Given the description of an element on the screen output the (x, y) to click on. 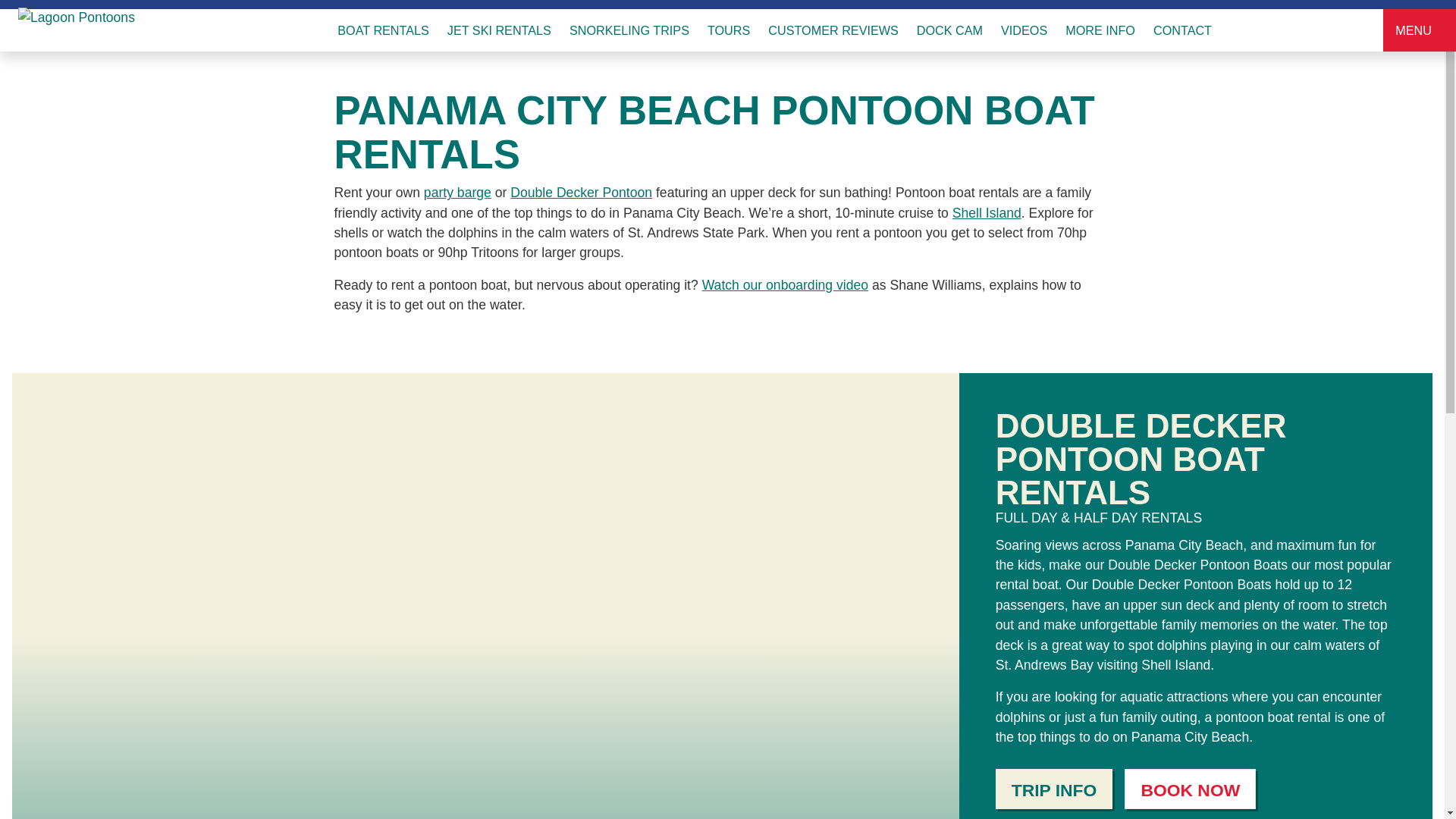
TRIP INFO (1054, 789)
Double Decker Pontoon (581, 192)
Customer Reviews (832, 30)
Boat Rentals (387, 30)
More Info (1100, 30)
Tours (728, 30)
Videos (1024, 30)
DOUBLE DECKER PONTOON BOAT RENTALS (1141, 458)
Snorkeling Trips (629, 30)
BOAT RENTALS (387, 30)
CONTACT (1179, 30)
SNORKELING TRIPS (629, 30)
Jet Ski Rentals (499, 30)
BOOK NOW (1189, 789)
VIDEOS (1024, 30)
